Given the description of an element on the screen output the (x, y) to click on. 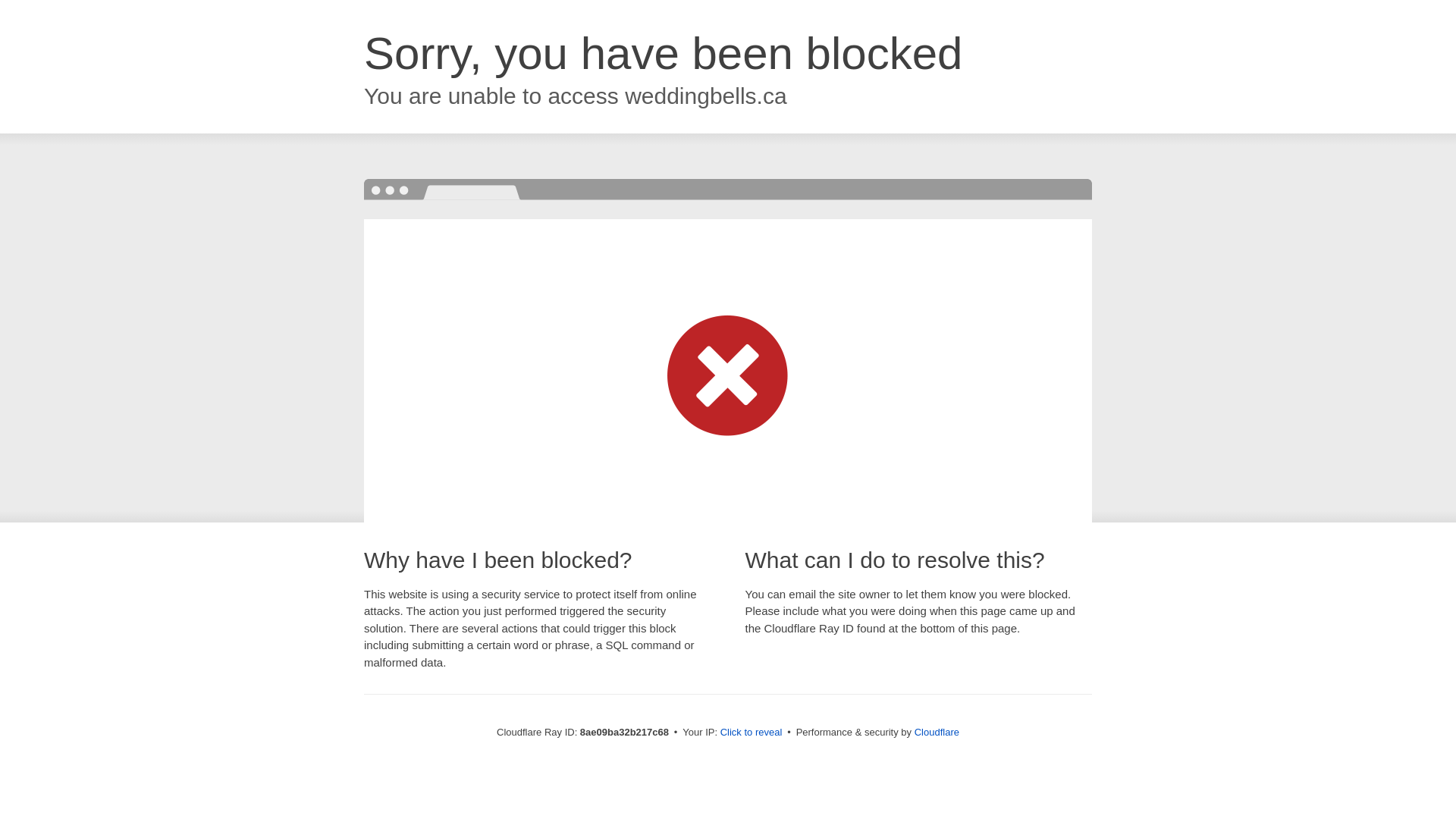
Cloudflare (936, 731)
Click to reveal (751, 732)
